Given the description of an element on the screen output the (x, y) to click on. 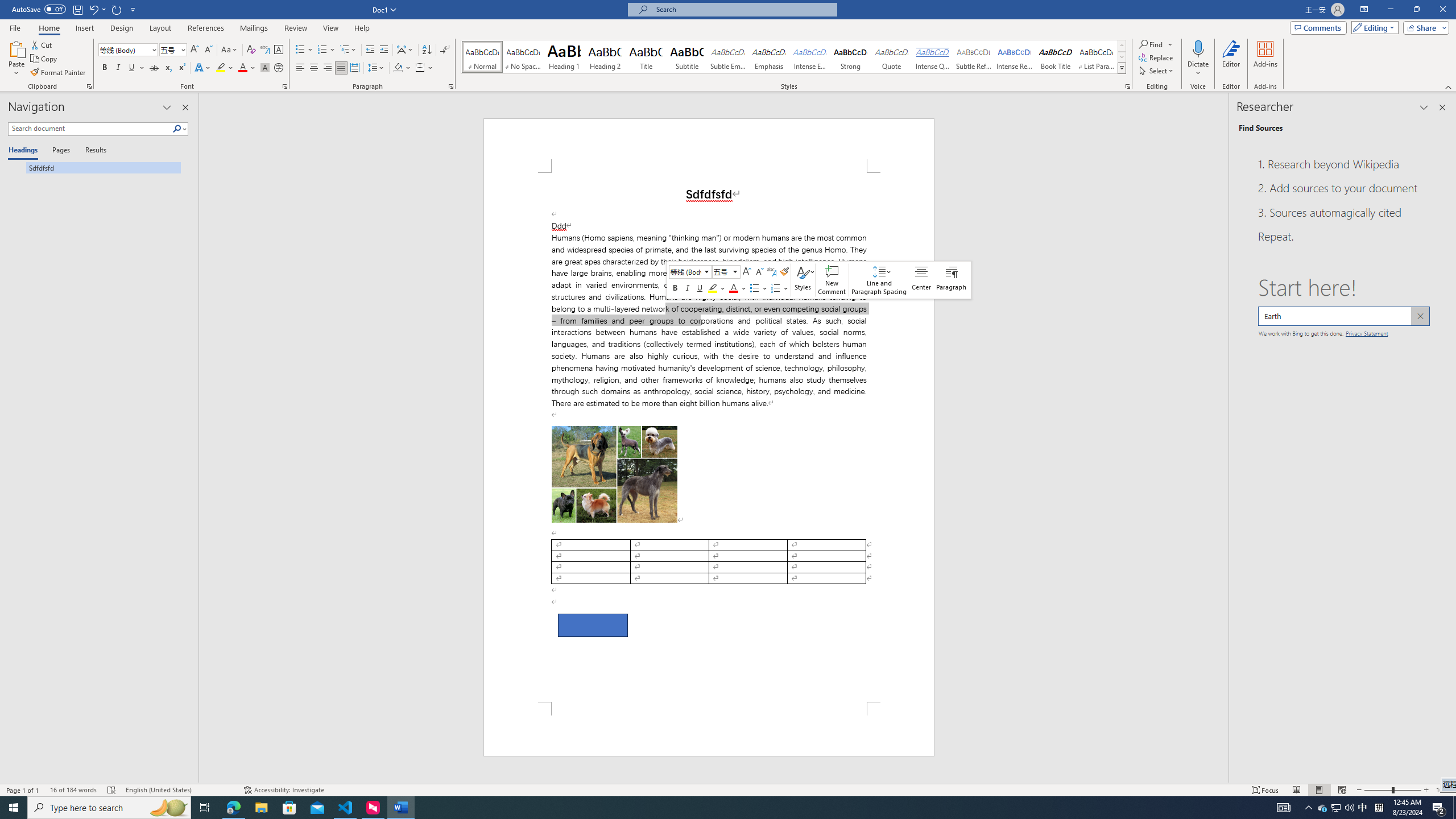
Heading 1 (564, 56)
Subtle Reference (973, 56)
Morphological variation in six dogs (614, 473)
